Given the description of an element on the screen output the (x, y) to click on. 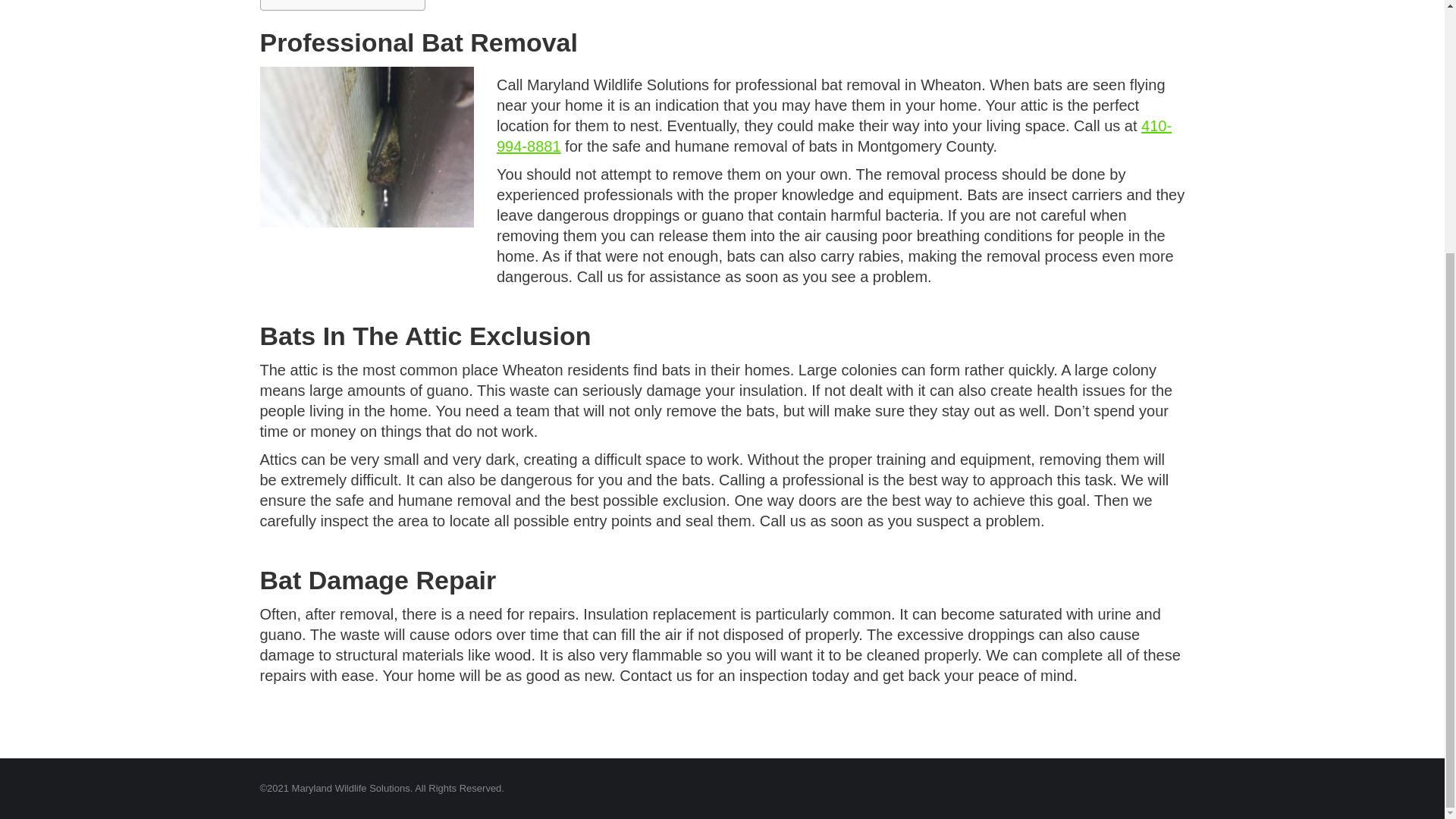
bat control (366, 146)
